Given the description of an element on the screen output the (x, y) to click on. 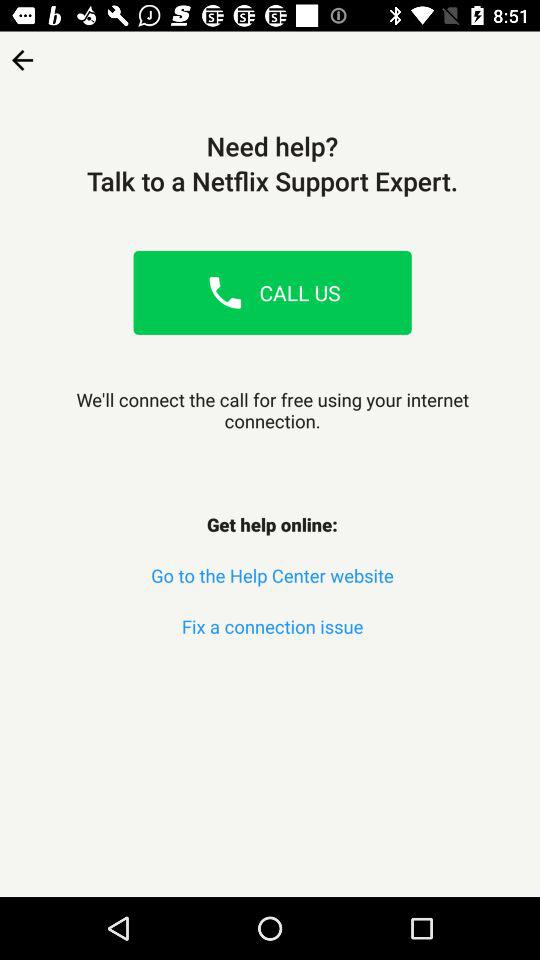
tap the icon below get help online: icon (272, 575)
